Given the description of an element on the screen output the (x, y) to click on. 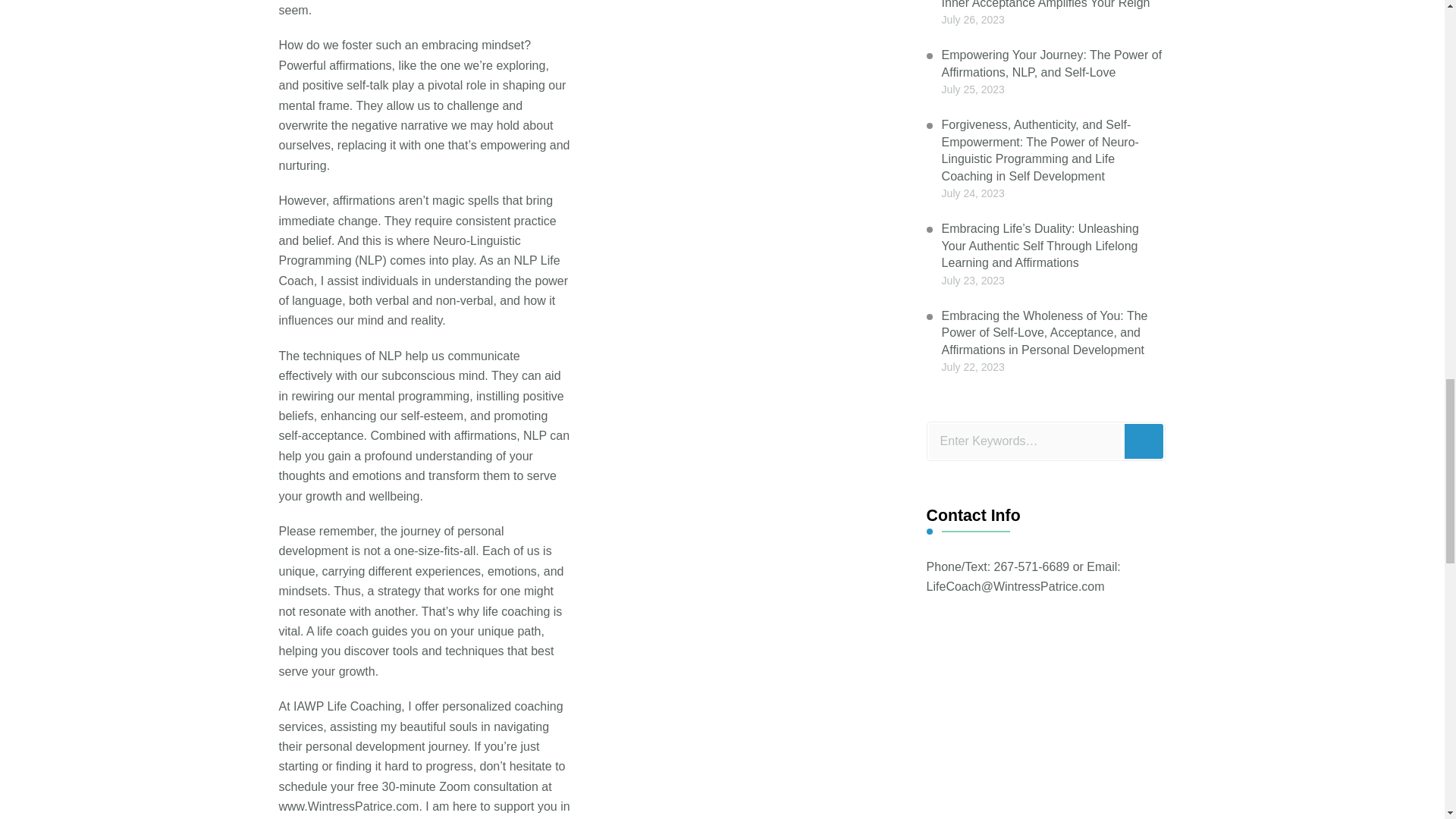
Search (1143, 441)
Search (1143, 441)
